Given the description of an element on the screen output the (x, y) to click on. 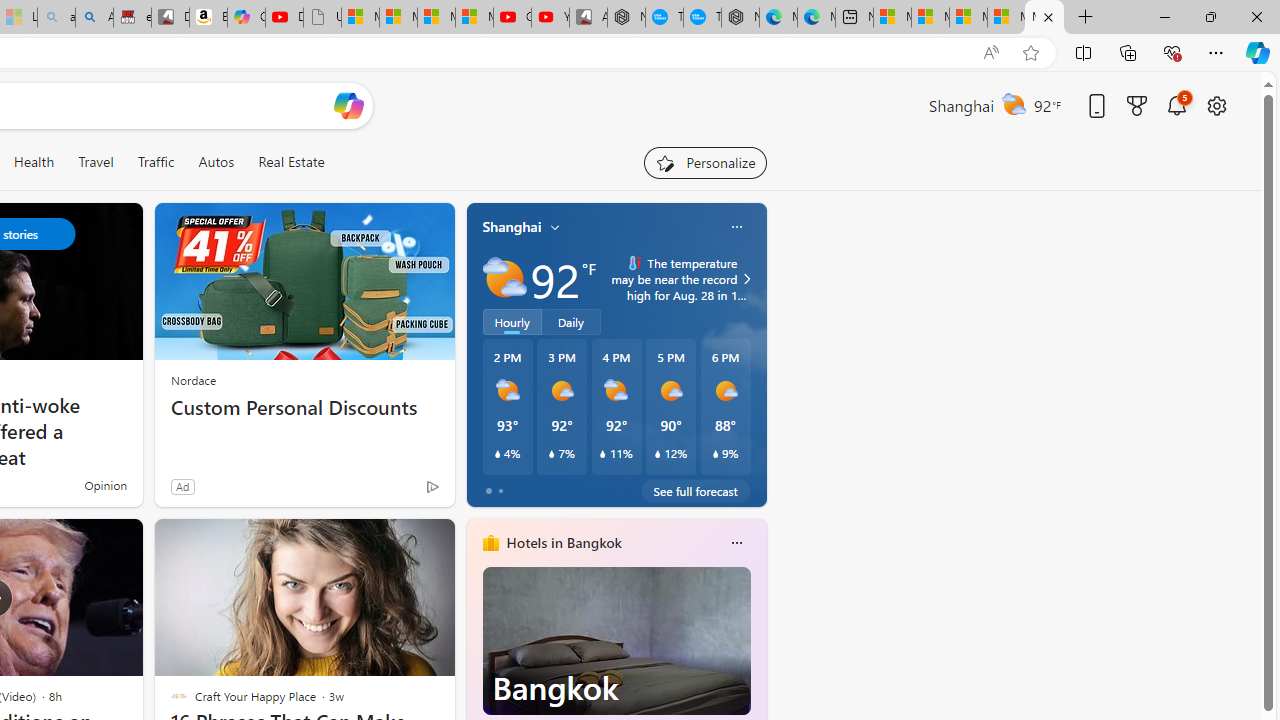
Travel (95, 161)
Real Estate (291, 161)
tab-0 (488, 490)
amazon - Search - Sleeping (56, 17)
Open settings (1216, 105)
Personalize your feed" (704, 162)
Travel (95, 162)
